Given the description of an element on the screen output the (x, y) to click on. 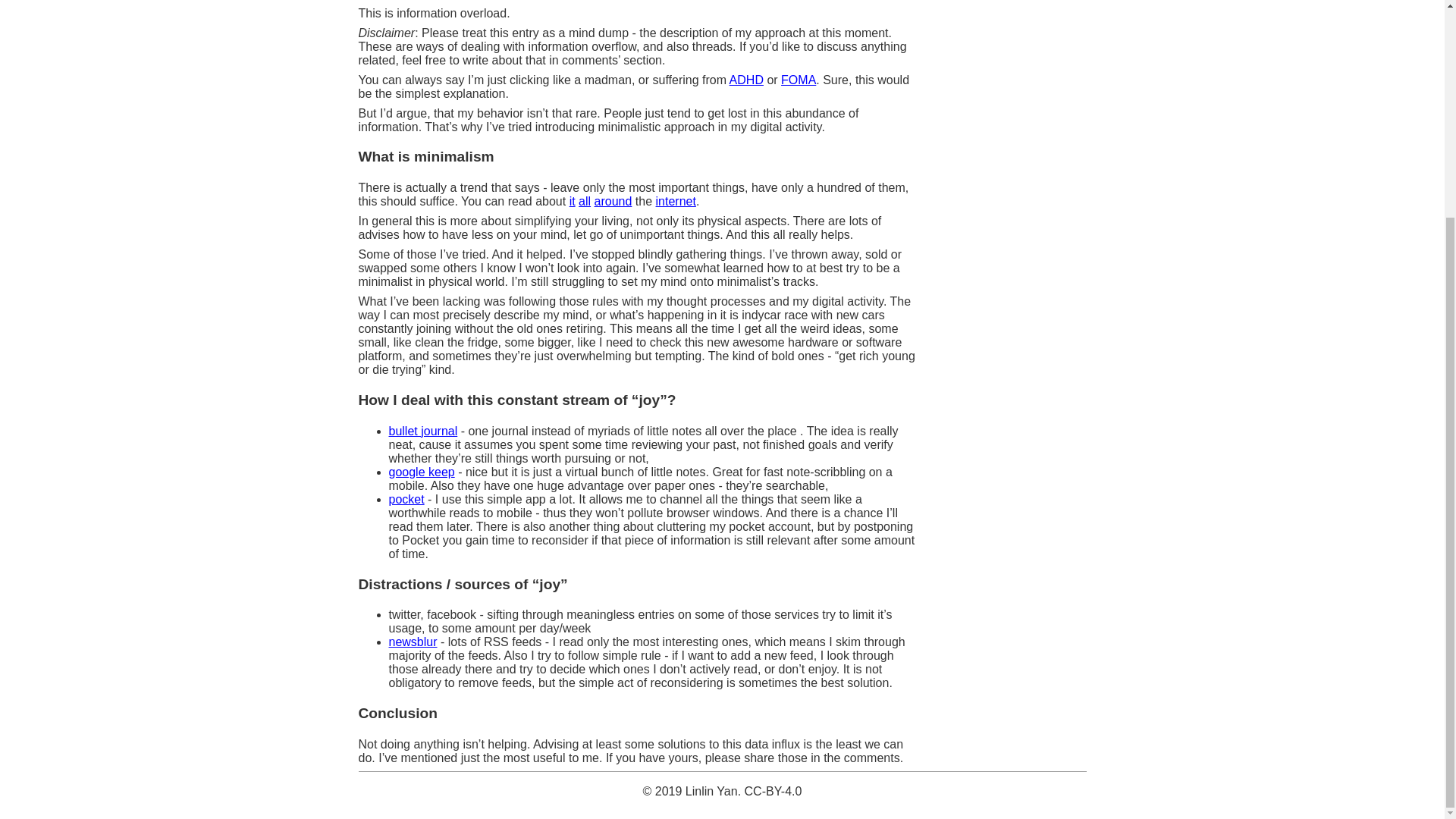
pocket (405, 499)
around (612, 201)
bullet journal (422, 431)
google keep (421, 472)
internet (675, 201)
all (584, 201)
newsblur (412, 641)
